Given the description of an element on the screen output the (x, y) to click on. 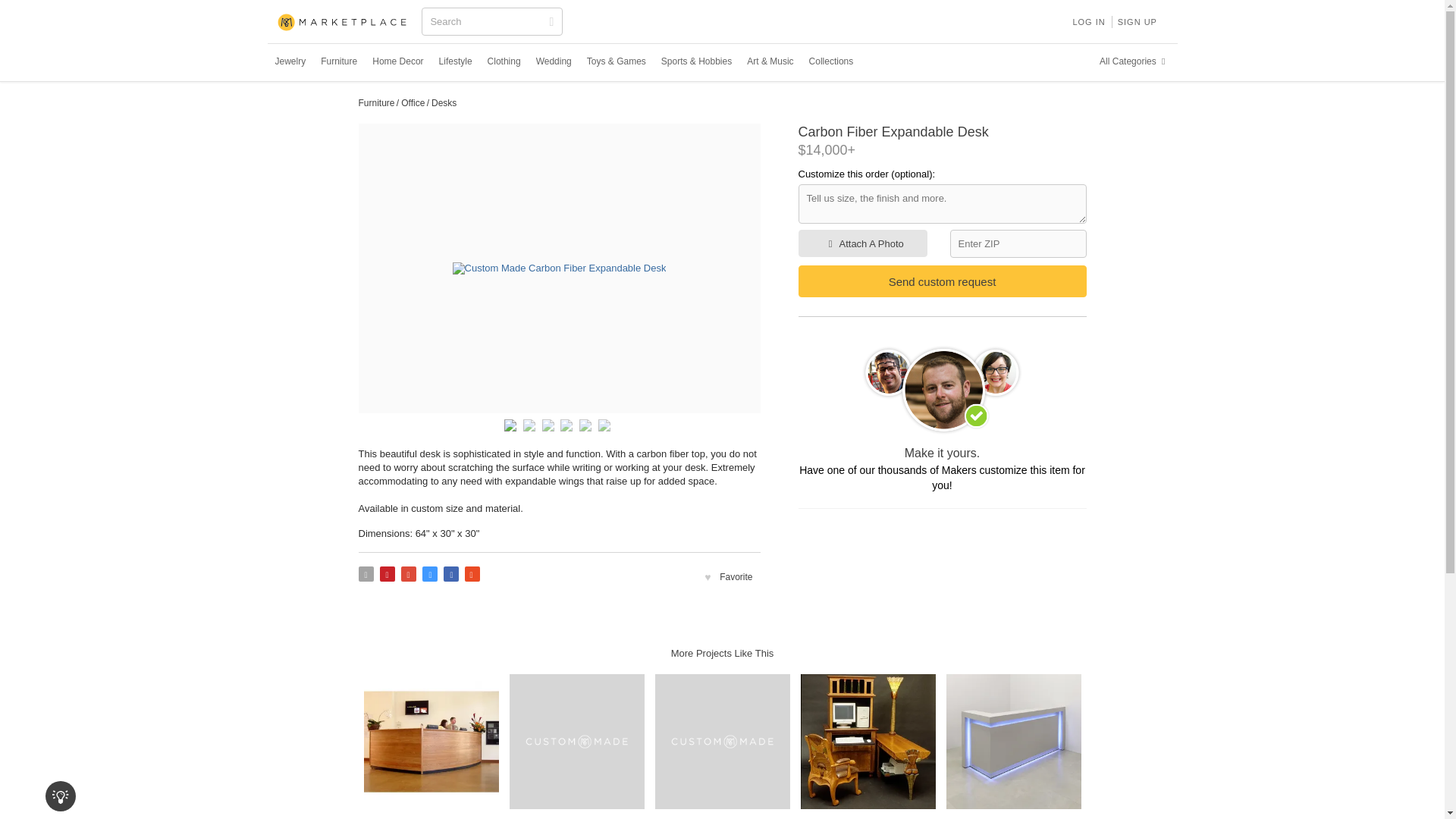
Custom Jewelry (289, 61)
All Categories (1134, 61)
CUSTOMMADE (342, 22)
LOG IN (1087, 21)
SIGN UP (1137, 21)
Jewelry (289, 61)
Log in to CustomMade (1087, 21)
